Given the description of an element on the screen output the (x, y) to click on. 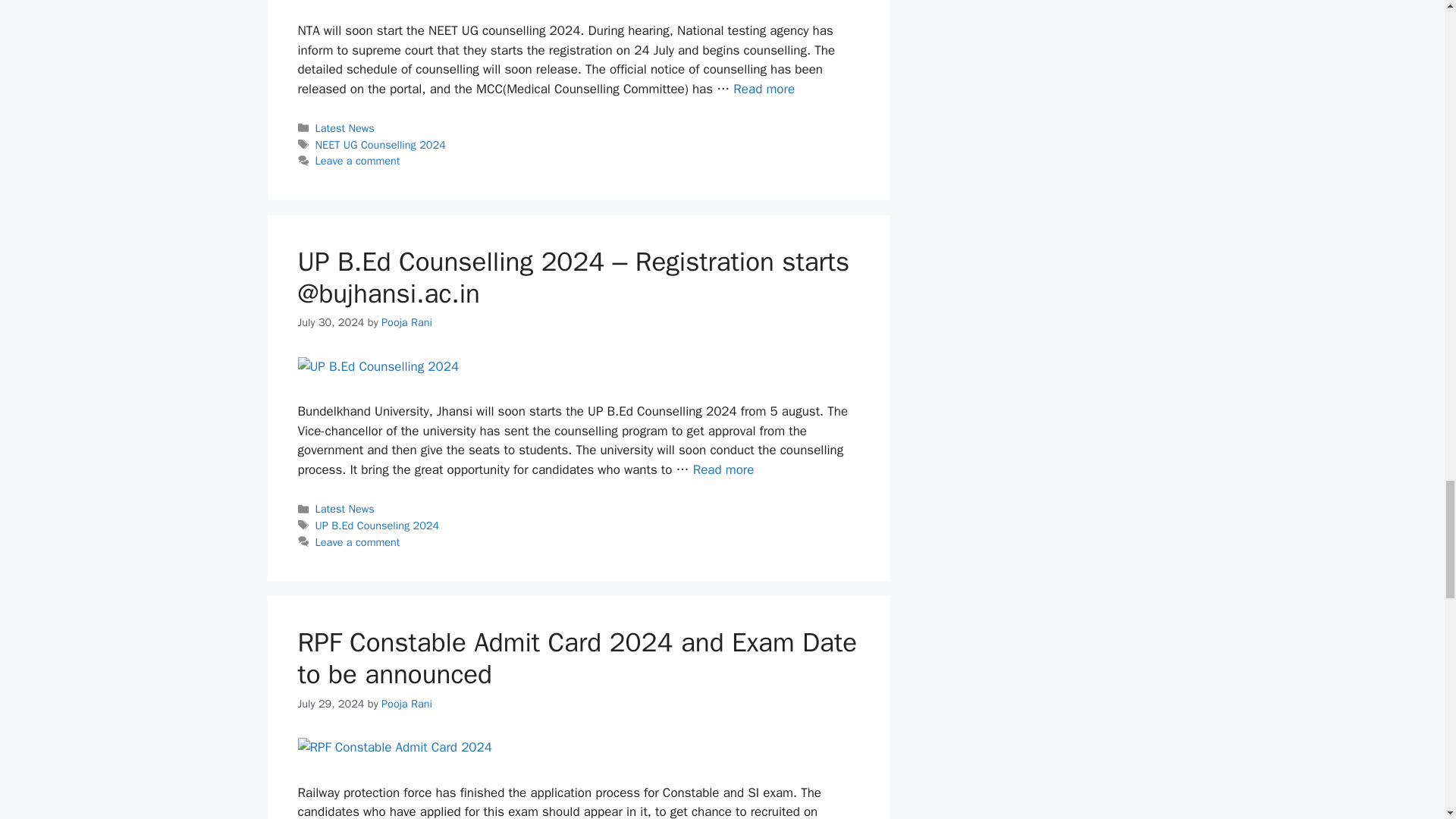
Latest News (344, 128)
View all posts by Pooja Rani (406, 322)
View all posts by Pooja Rani (406, 703)
Leave a comment (357, 160)
NEET UG Counselling 2024 (380, 144)
Read more (763, 89)
